Given the description of an element on the screen output the (x, y) to click on. 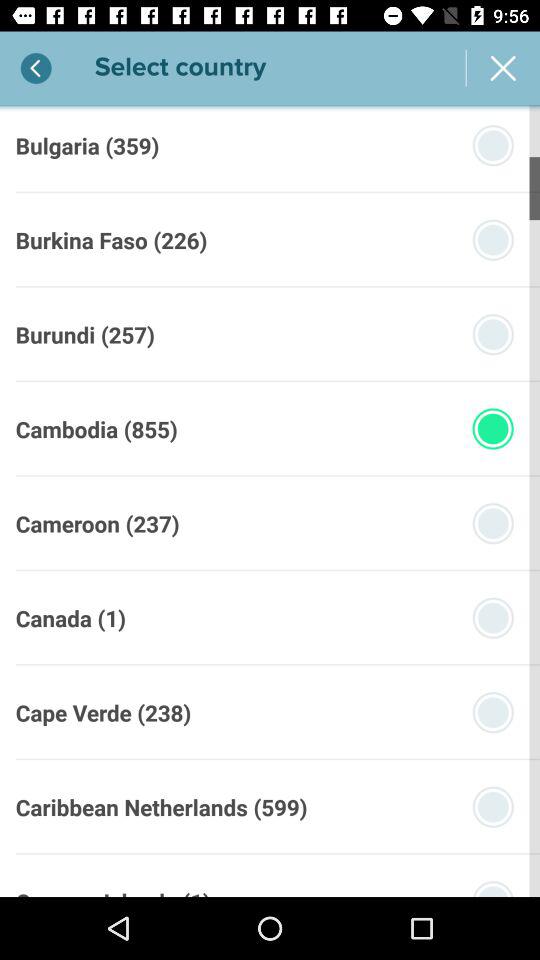
go back from countries (36, 67)
